Given the description of an element on the screen output the (x, y) to click on. 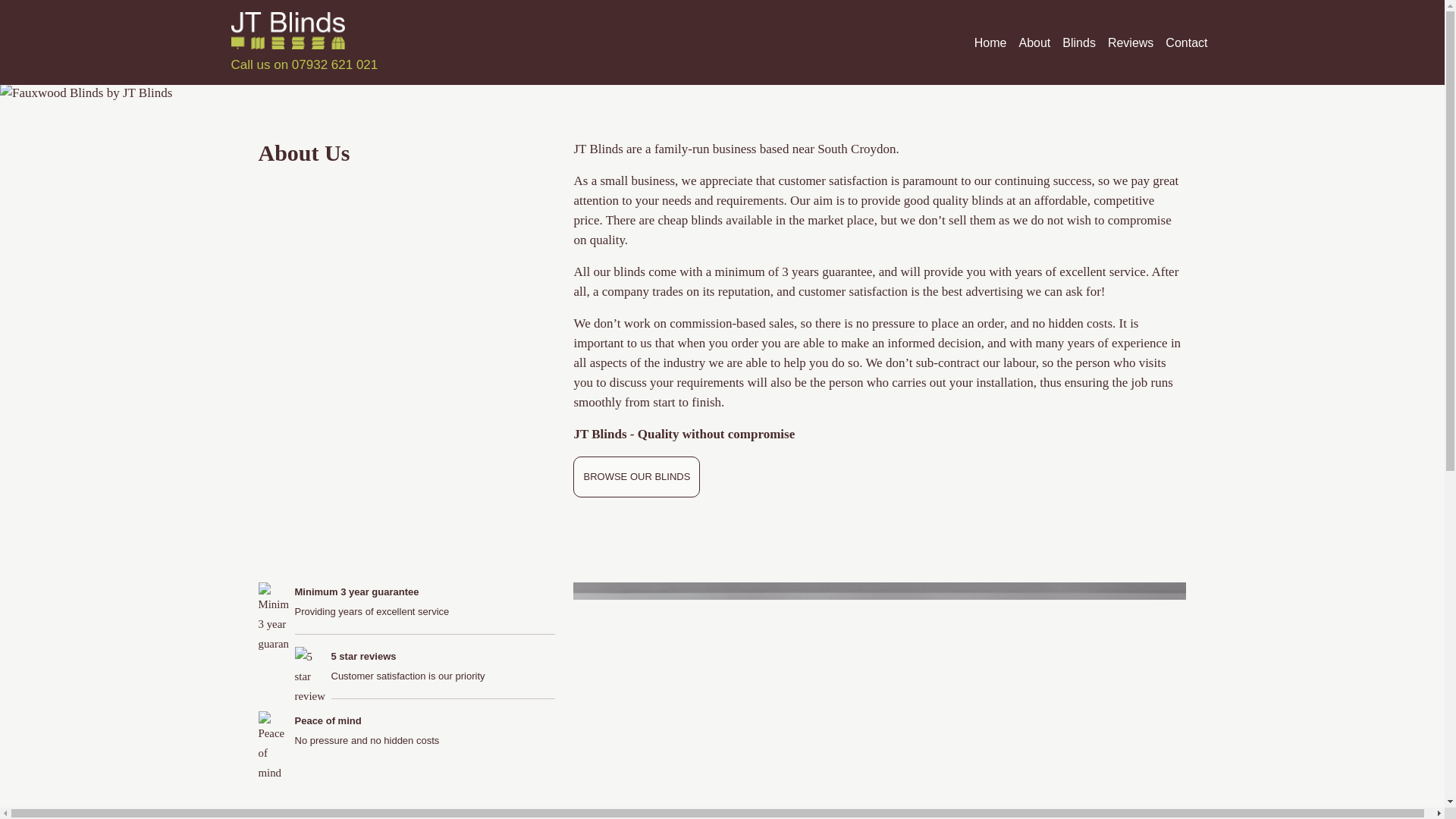
About (1035, 42)
Contact (1185, 42)
Home (990, 42)
BROWSE OUR BLINDS (636, 476)
Reviews (1130, 42)
Blinds (1079, 42)
